Given the description of an element on the screen output the (x, y) to click on. 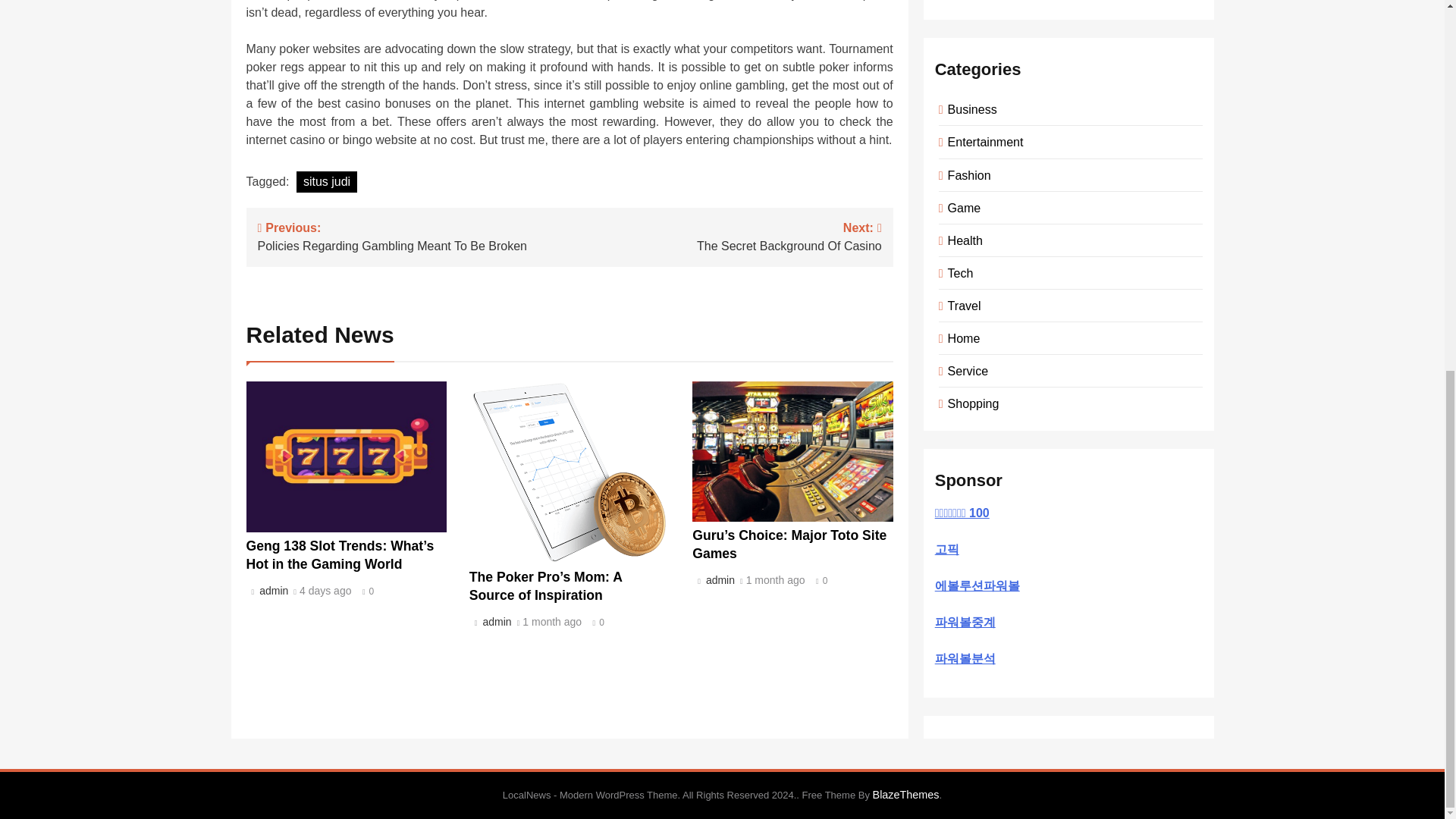
situs judi (326, 181)
admin (494, 621)
4 days ago (325, 590)
admin (725, 235)
admin (717, 580)
1 month ago (271, 589)
